Given the description of an element on the screen output the (x, y) to click on. 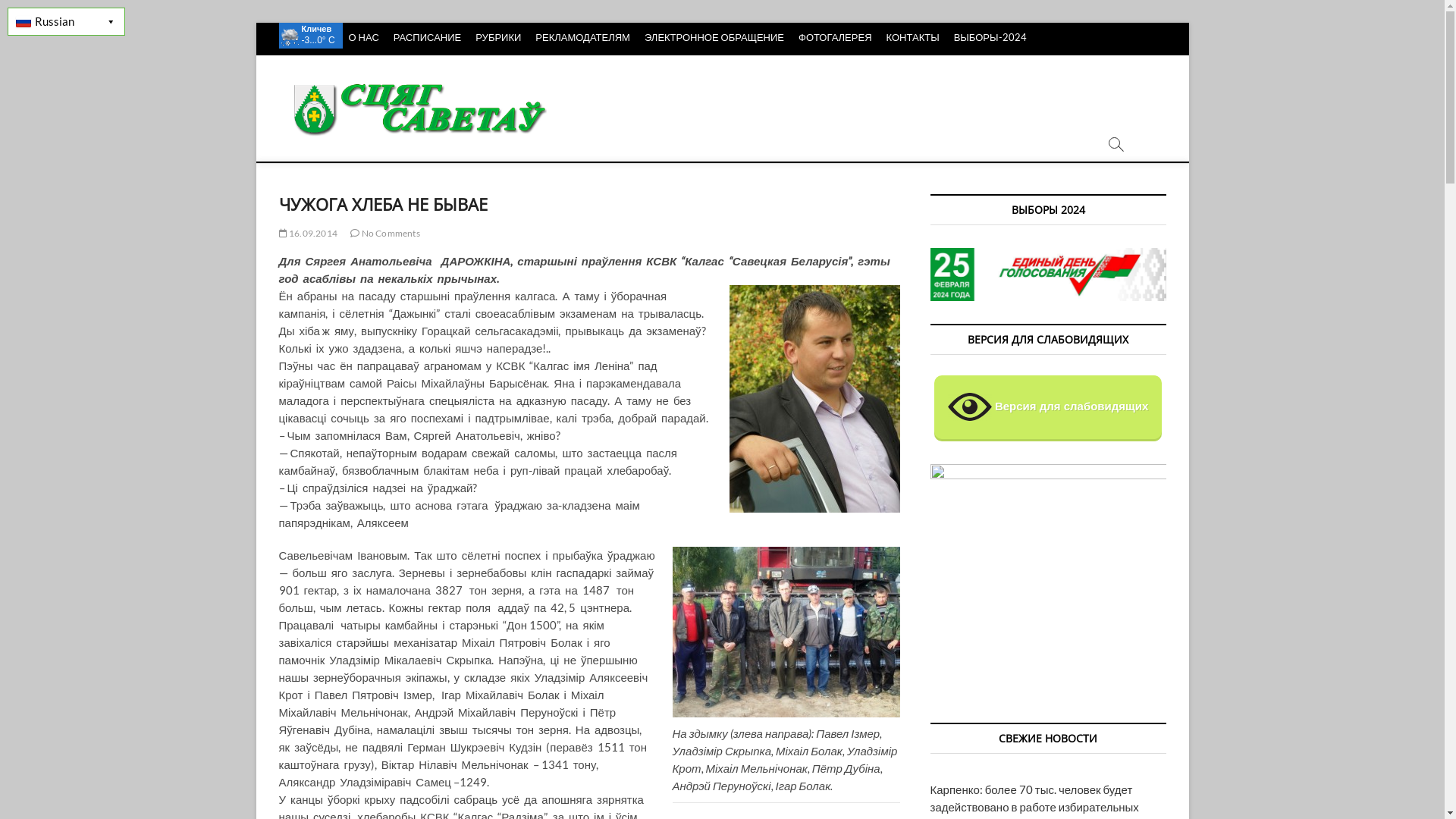
16.09.2014 Element type: text (308, 232)
OLYMPUS DIGITAL CAMERA Element type: hover (814, 398)
SAM_1805 Element type: hover (785, 631)
No Comments Element type: text (385, 232)
Skip to content Element type: text (254, 21)
